Given the description of an element on the screen output the (x, y) to click on. 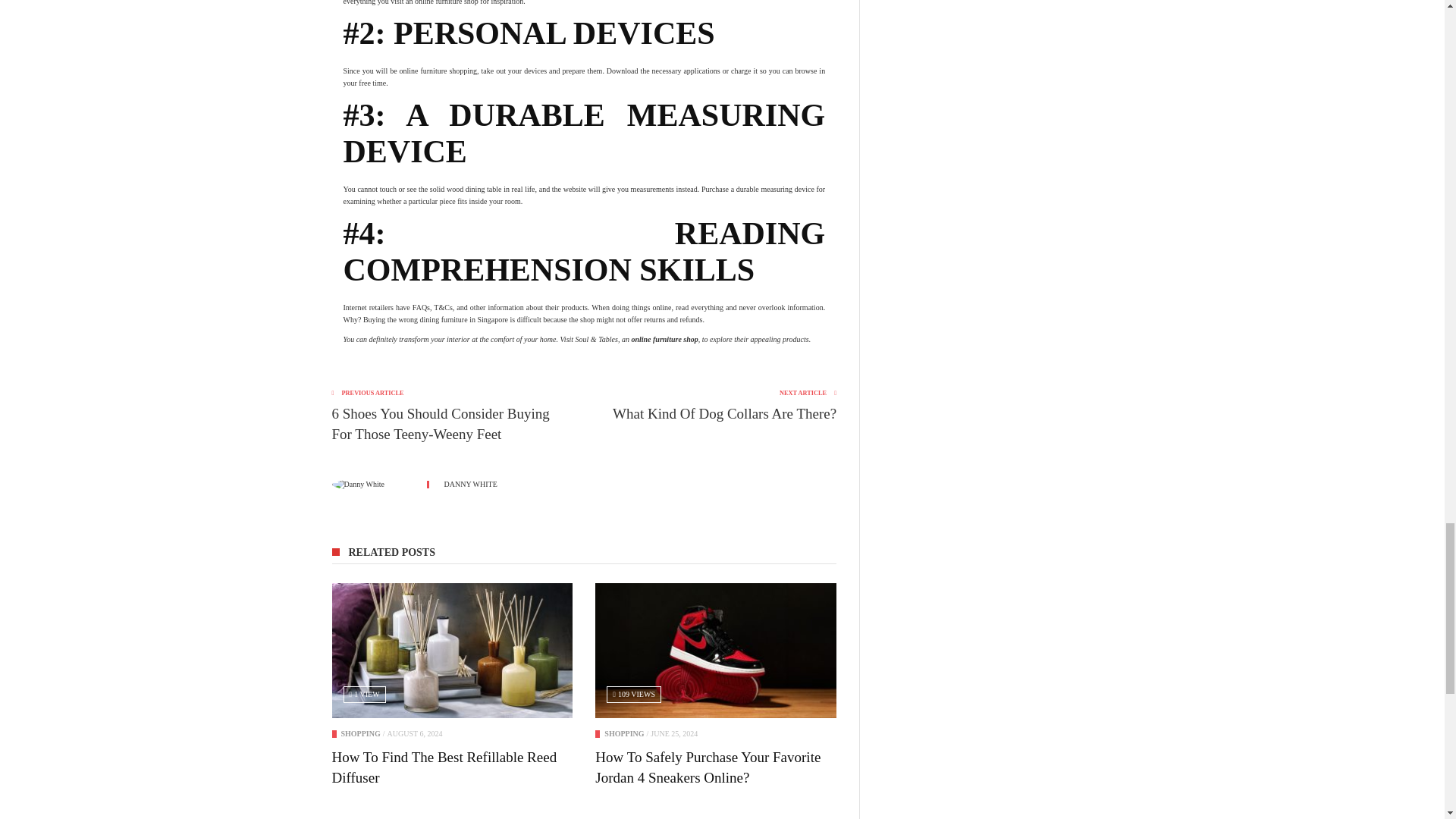
online furniture shop (663, 338)
How To Find The Best Refillable Reed Diffuser (444, 767)
Shopping (360, 733)
SHOPPING (360, 733)
DANNY WHITE (470, 483)
How To Find The Best Refillable Reed Diffuser (452, 651)
How To Find The Best Refillable Reed Diffuser (444, 767)
